Given the description of an element on the screen output the (x, y) to click on. 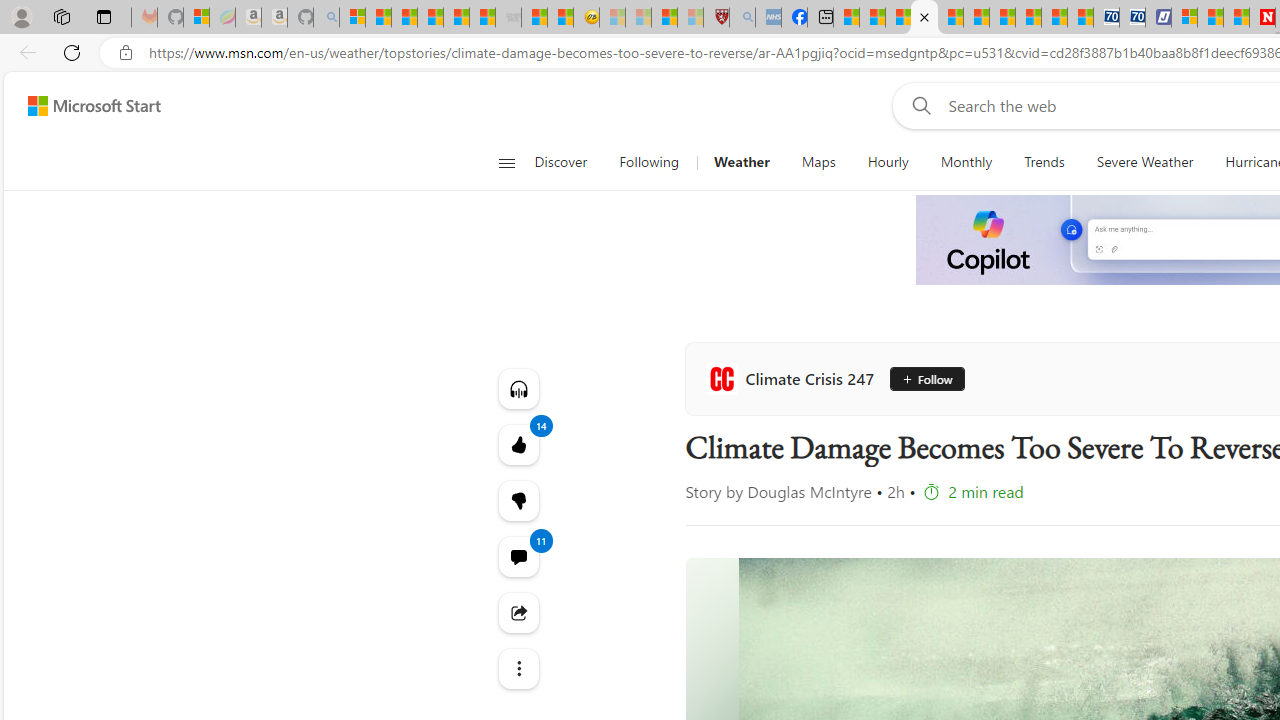
Cheap Car Rentals - Save70.com (1106, 17)
Listen to this article (517, 388)
Maps (818, 162)
14 Like (517, 444)
